Given the description of an element on the screen output the (x, y) to click on. 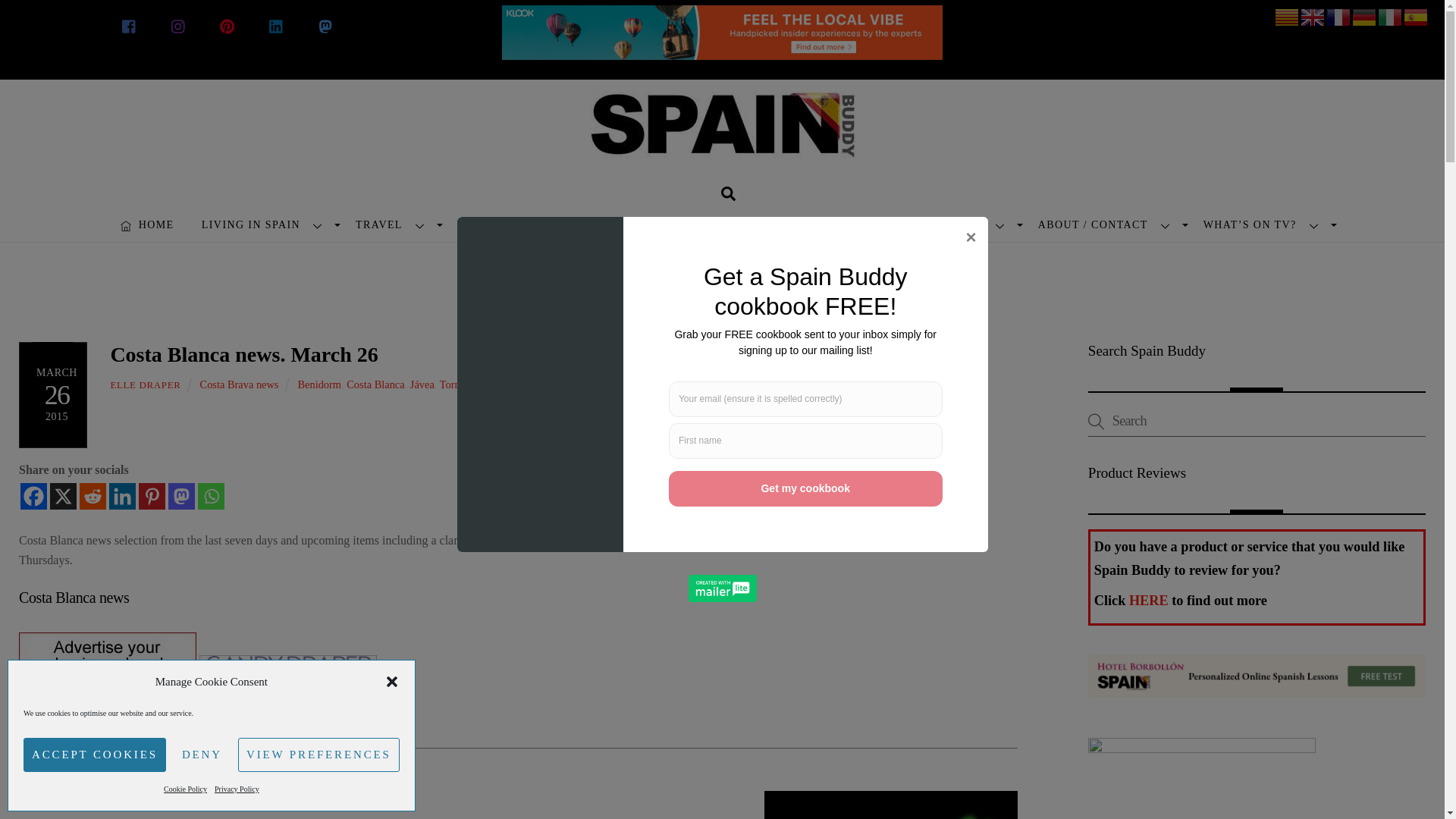
Cookie Policy (184, 789)
Search (727, 192)
Facebook (33, 496)
DENY (201, 754)
X (63, 496)
LIVING IN SPAIN (264, 224)
Spain Buddy (722, 137)
ACCEPT COOKIES (94, 754)
Deutsch (1364, 16)
Italiano (1390, 16)
Linkedin (122, 496)
TRAVEL (392, 224)
HOME (146, 224)
VIEW PREFERENCES (318, 754)
Reddit (93, 496)
